Given the description of an element on the screen output the (x, y) to click on. 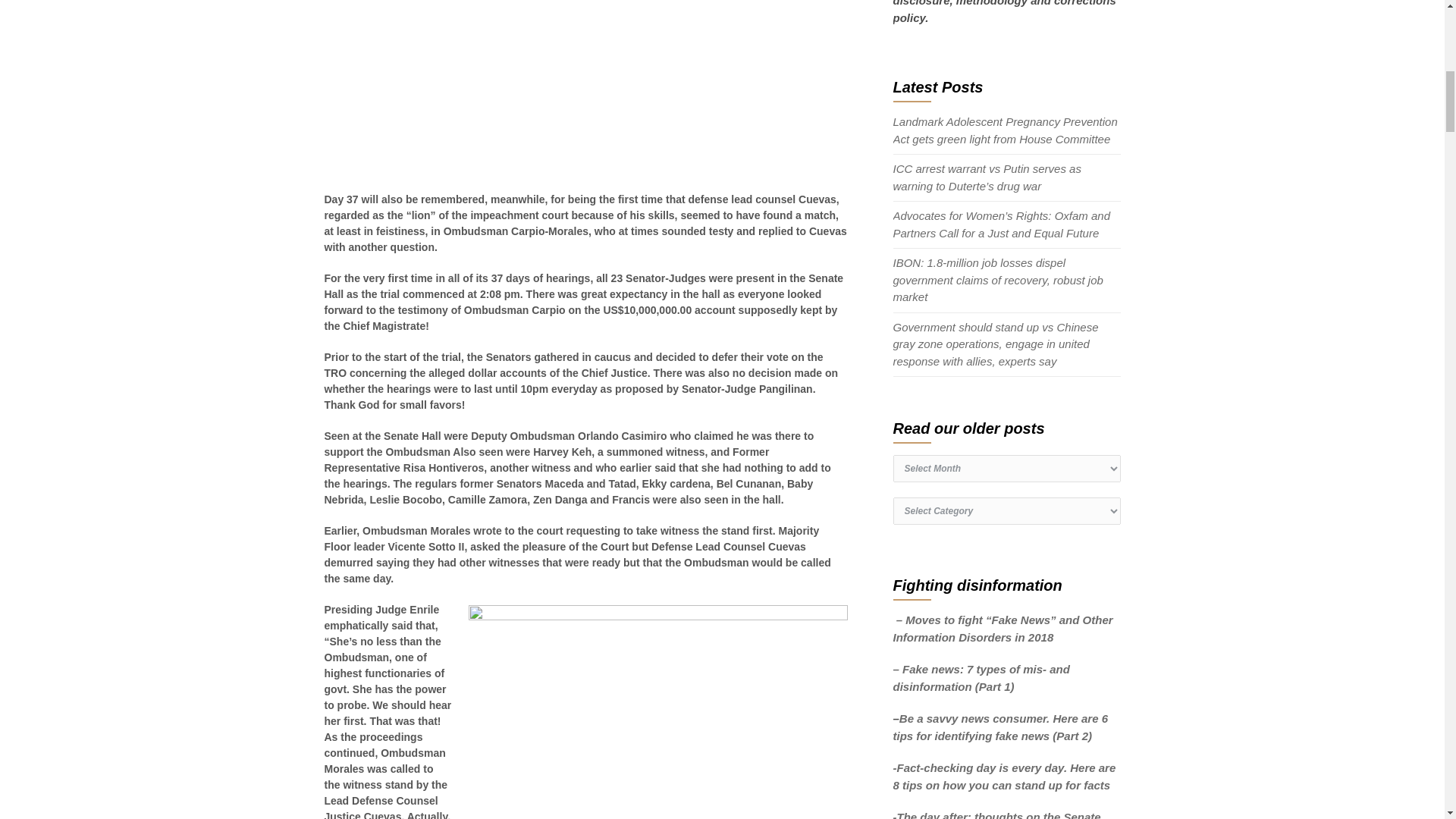
senator enrile impeachment (657, 712)
